Given the description of an element on the screen output the (x, y) to click on. 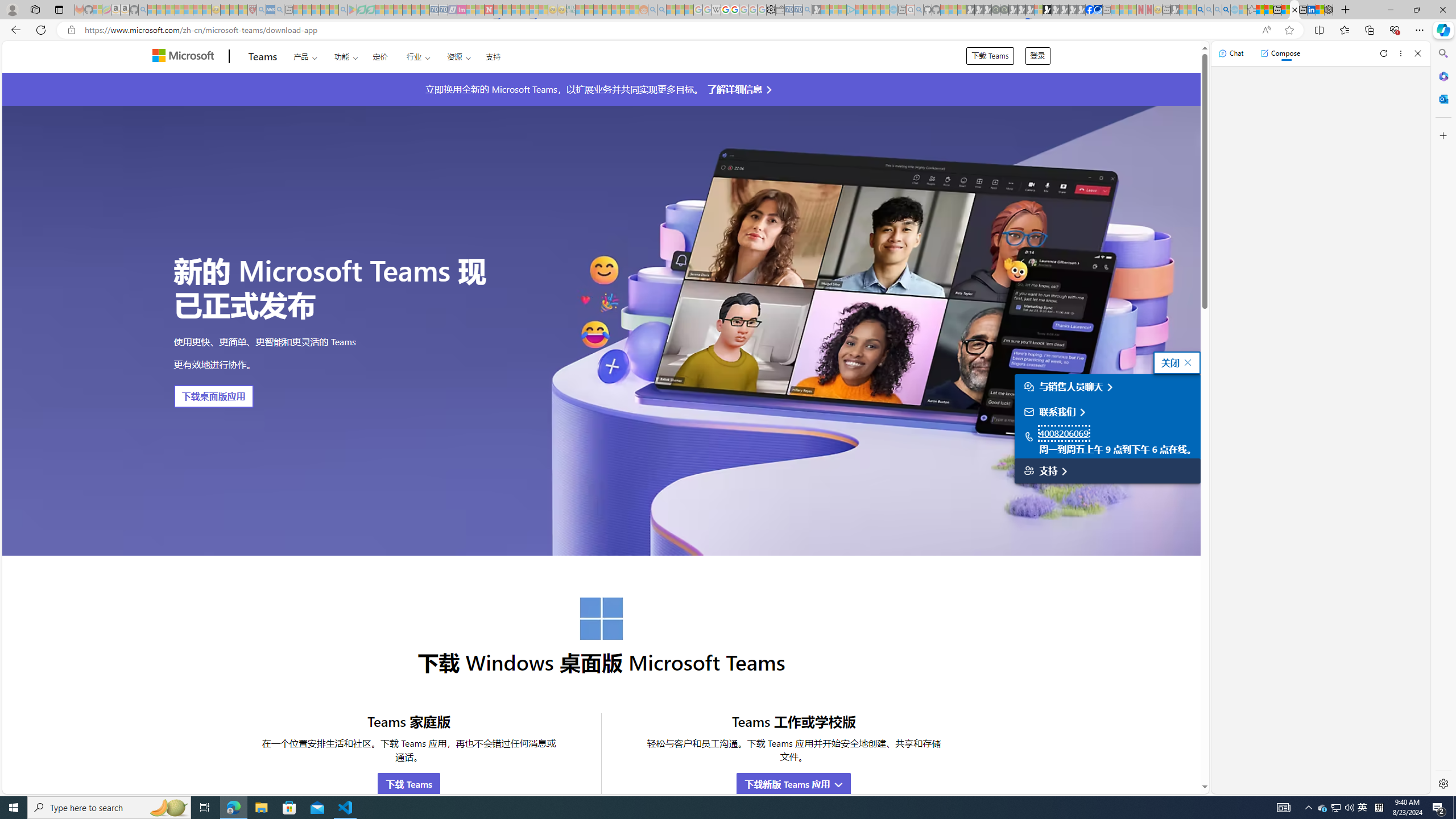
Target page - Wikipedia - Sleeping (716, 9)
